Given the description of an element on the screen output the (x, y) to click on. 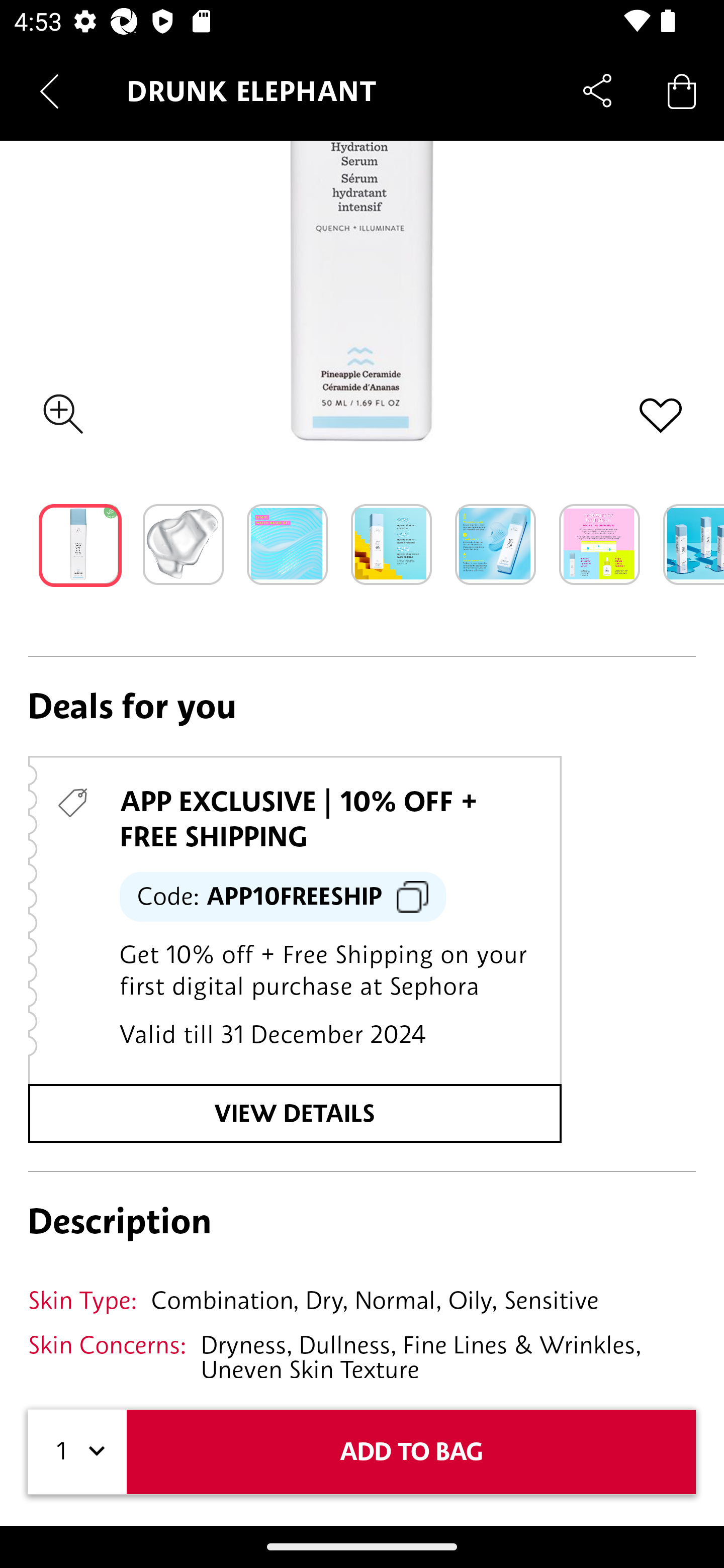
Navigate up (49, 91)
Share (597, 90)
Bag (681, 90)
VIEW DETAILS (294, 1113)
1 (77, 1451)
ADD TO BAG (410, 1451)
